Given the description of an element on the screen output the (x, y) to click on. 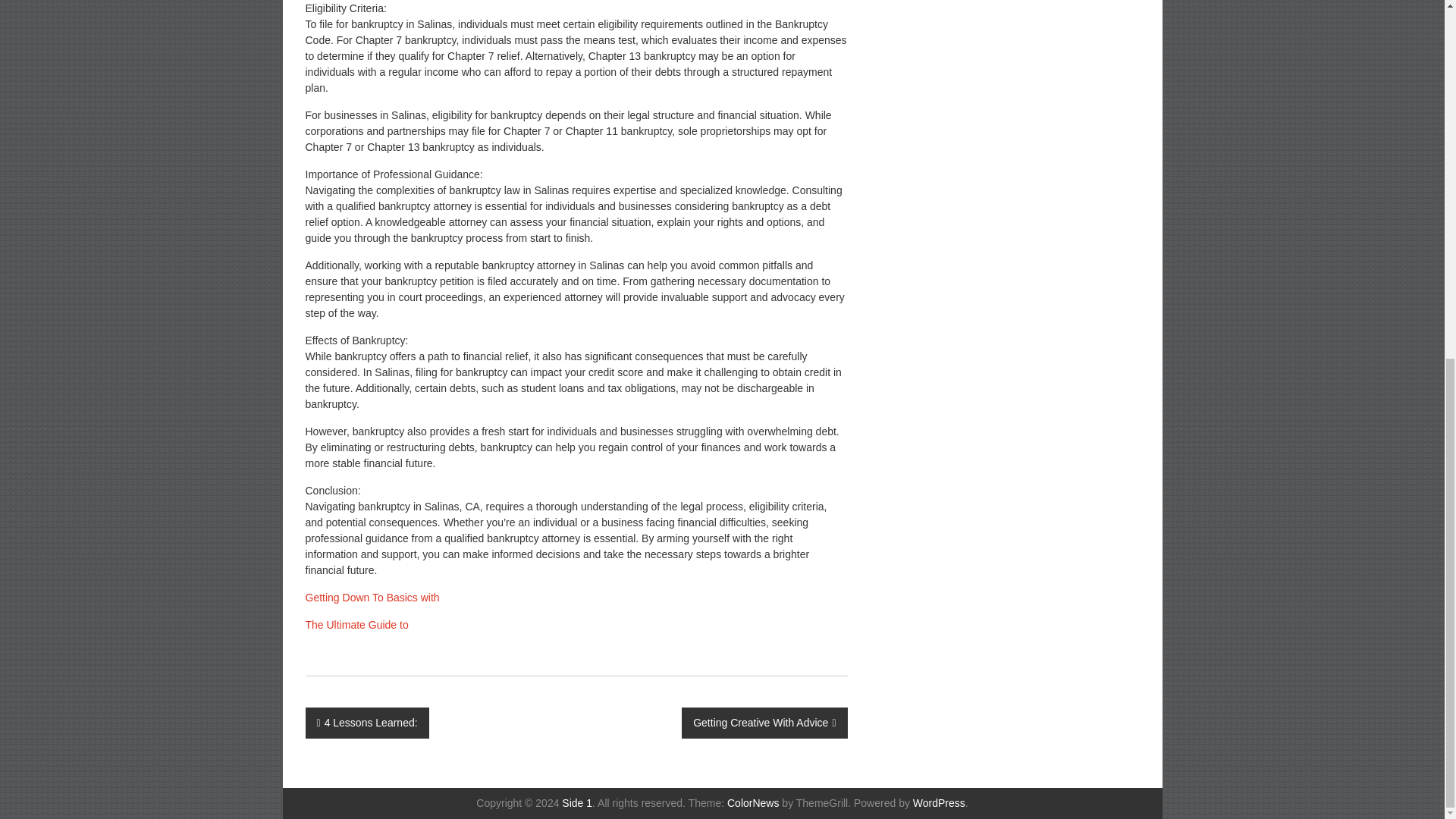
ColorNews (752, 802)
Getting Creative With Advice (764, 722)
4 Lessons Learned: (366, 722)
Getting Down To Basics with (371, 597)
Side 1 (577, 802)
Side 1 (577, 802)
WordPress (938, 802)
The Ultimate Guide to (355, 624)
WordPress (938, 802)
ColorNews (752, 802)
